Given the description of an element on the screen output the (x, y) to click on. 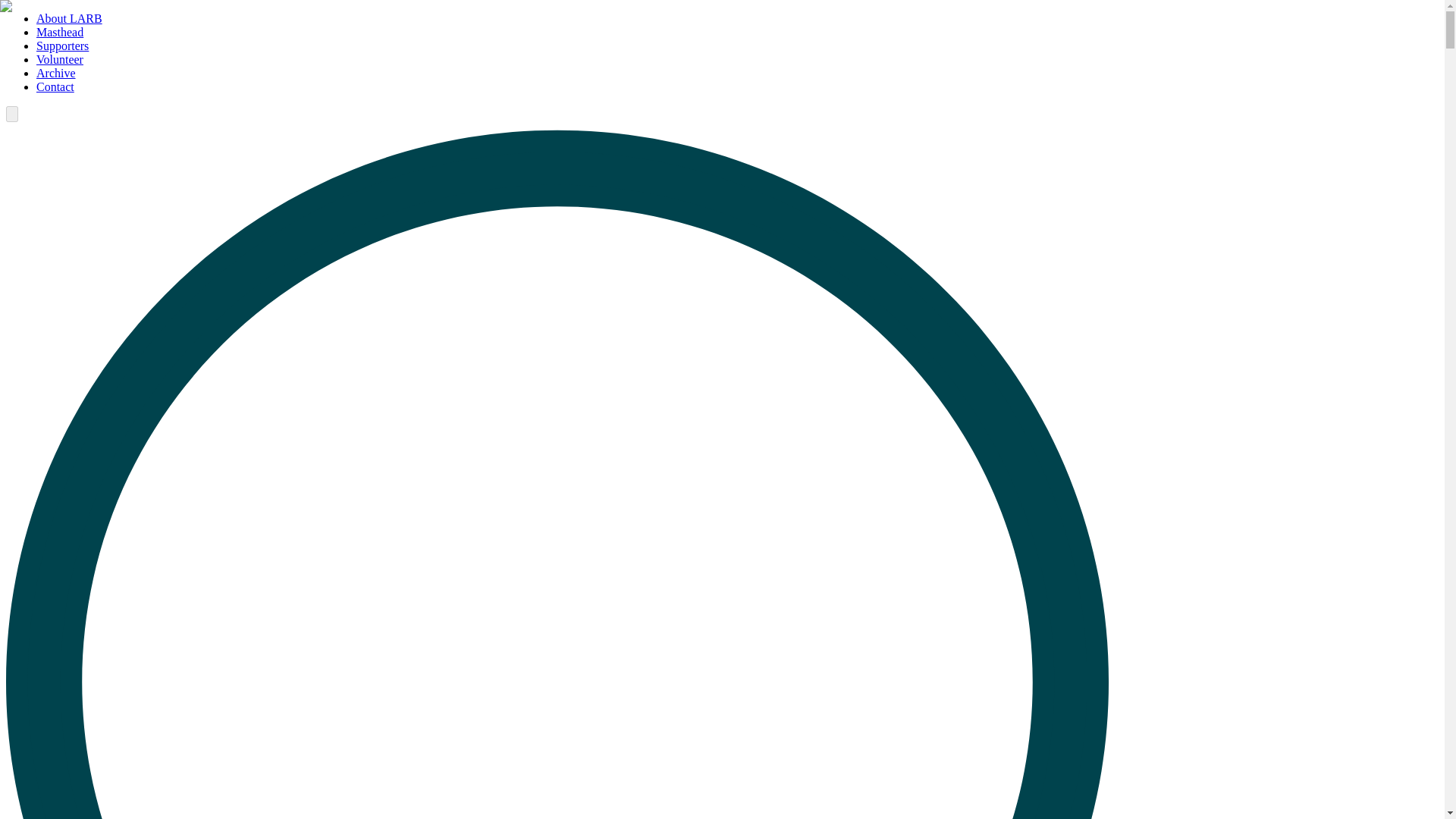
Masthead (59, 31)
Volunteer (59, 59)
Contact (55, 86)
Supporters (62, 45)
Archive (55, 72)
About LARB (68, 18)
